Given the description of an element on the screen output the (x, y) to click on. 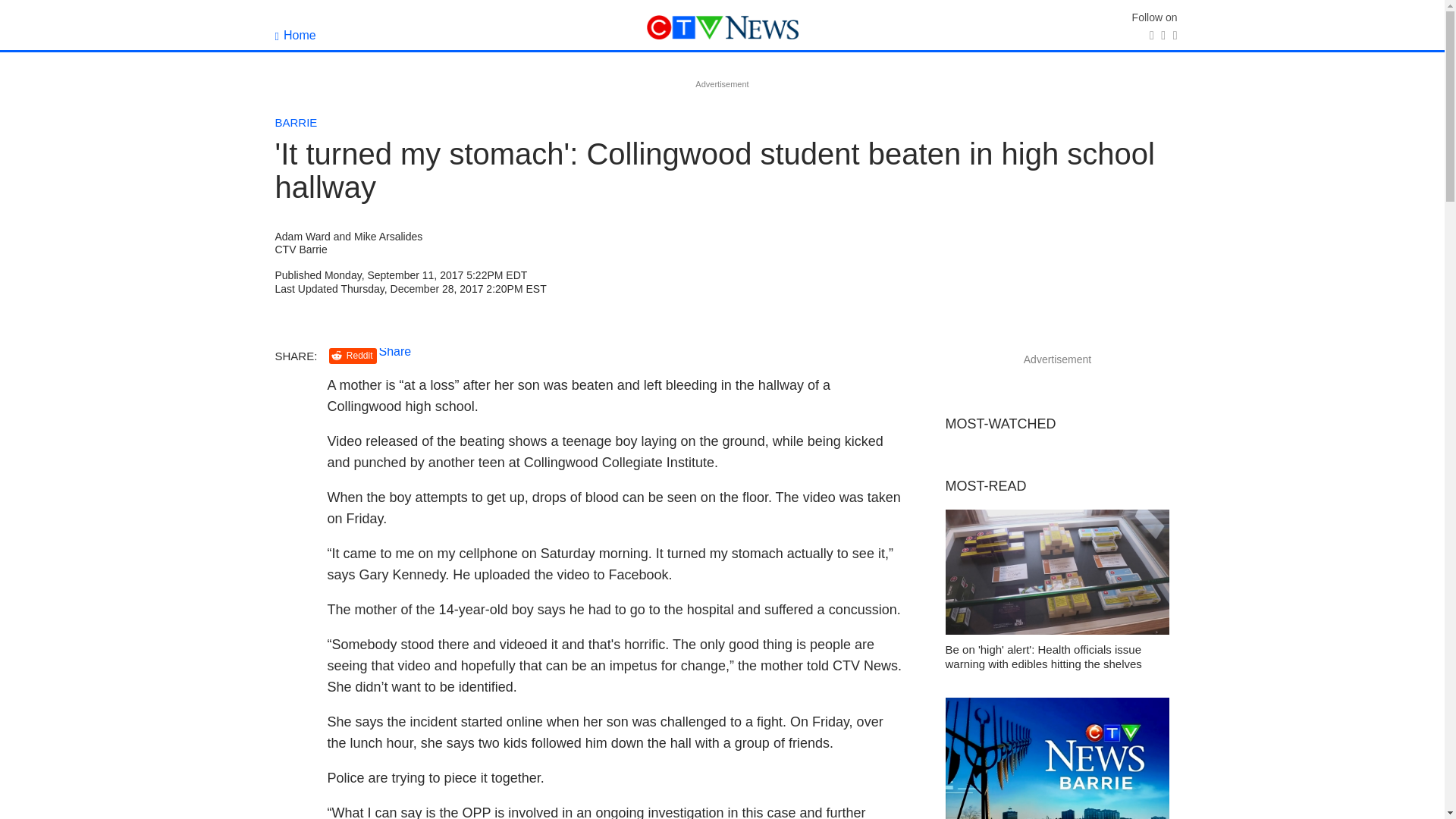
Reddit (353, 355)
Home (295, 34)
BARRIE (296, 122)
Share (395, 350)
